Given the description of an element on the screen output the (x, y) to click on. 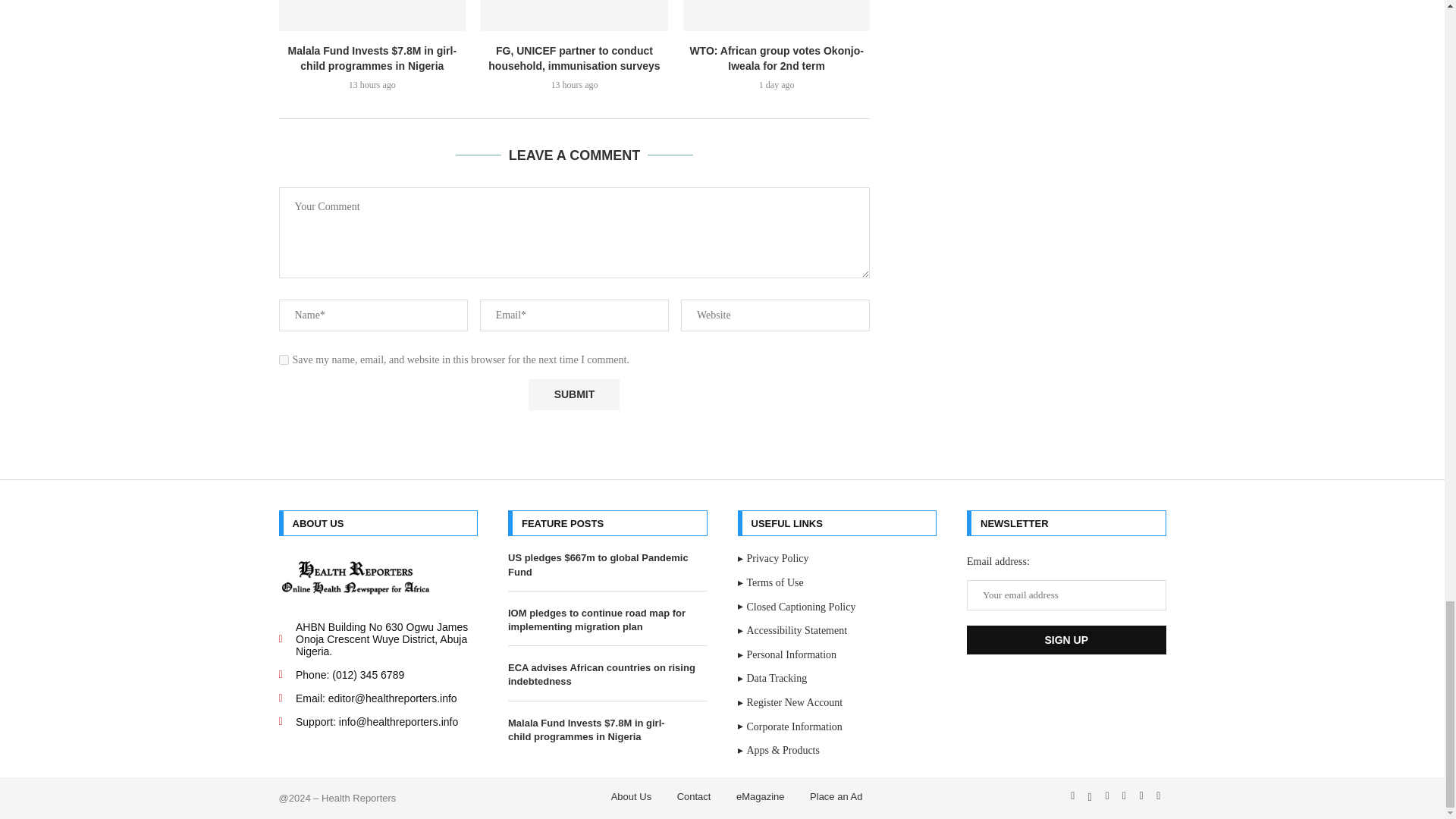
Submit (574, 394)
yes (283, 359)
Sign up (1066, 639)
WTO: African group votes Okonjo-Iweala for 2nd term (776, 15)
